Given the description of an element on the screen output the (x, y) to click on. 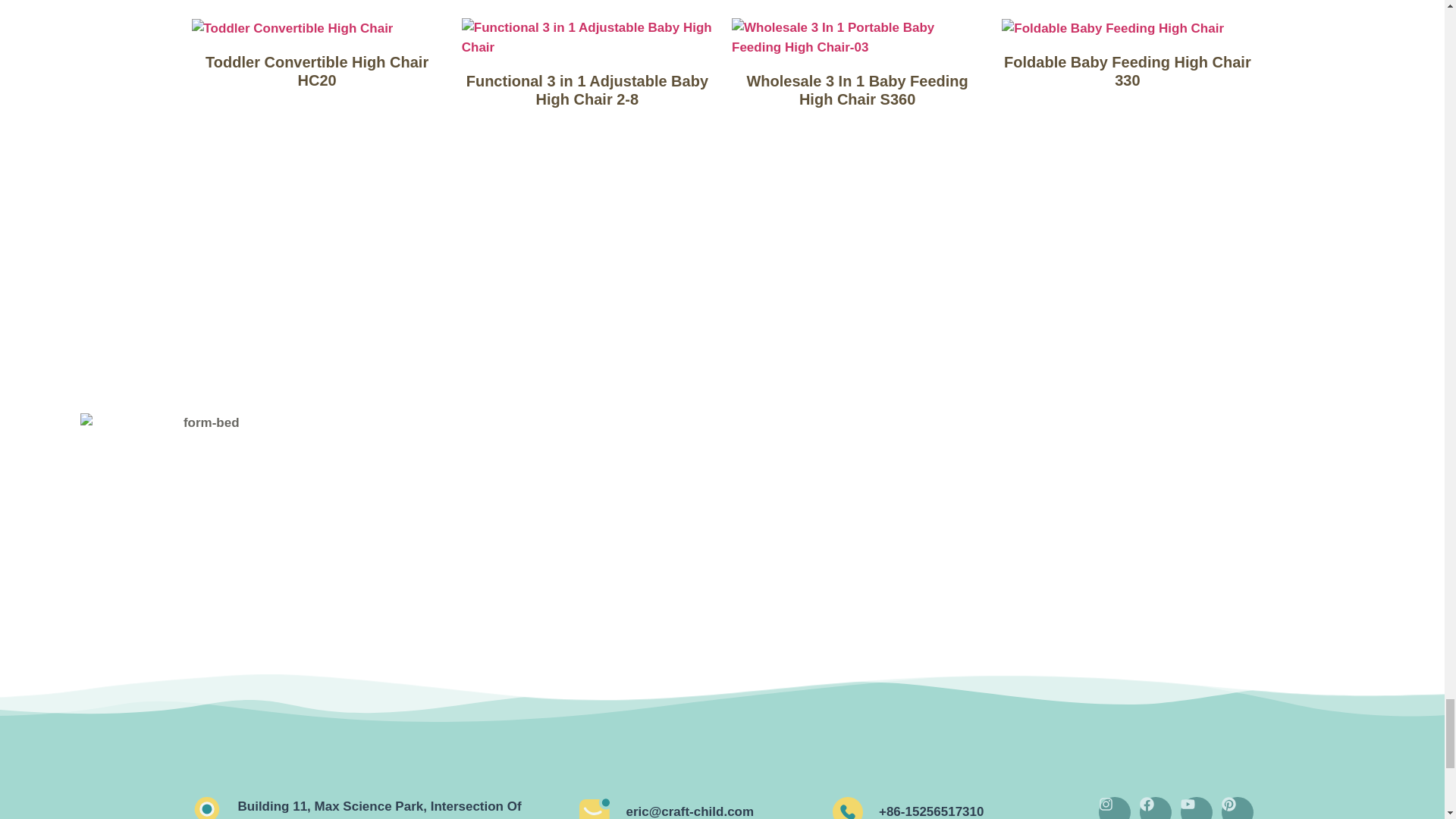
Functional 3 in 1 Adjustable Baby High Chair 2-8 (587, 36)
Foldable Baby Feeding High Chair 330 (1112, 27)
Toddler Convertible High Chair HC20 (291, 27)
Wholesale 3 In 1 Baby Feeding High Chair S360 (857, 36)
